Given the description of an element on the screen output the (x, y) to click on. 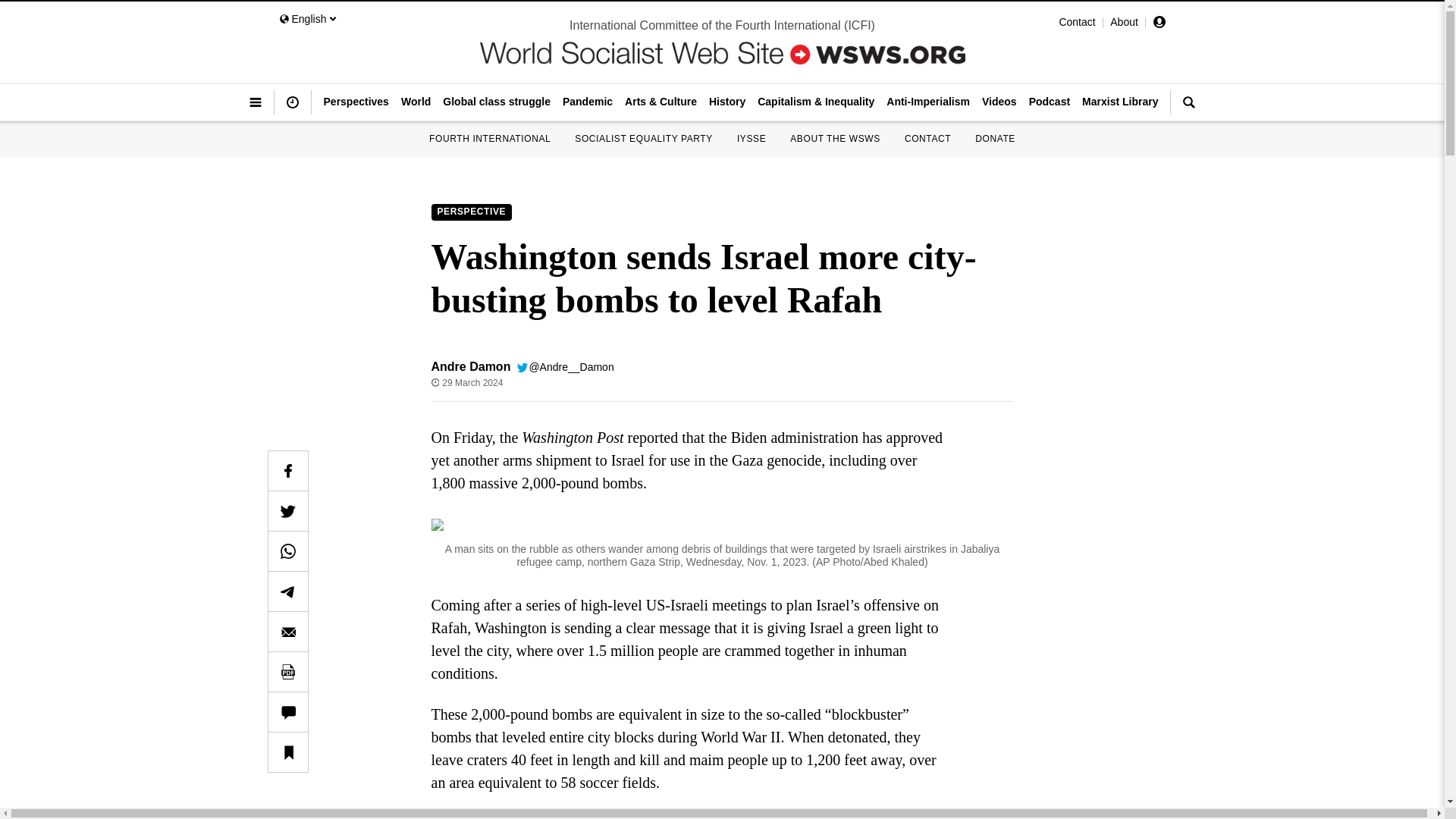
Perspectives (355, 101)
Marxist Library (1119, 101)
IYSSE (750, 138)
DONATE (994, 138)
Share via Whatsapp (287, 550)
CONTACT (927, 138)
Search (1188, 108)
World (415, 101)
Share via Telegram (287, 590)
History (727, 101)
Share via Twitter (287, 510)
Share via Facebook (287, 470)
Andre Damon (470, 366)
Contact (1076, 21)
